Given the description of an element on the screen output the (x, y) to click on. 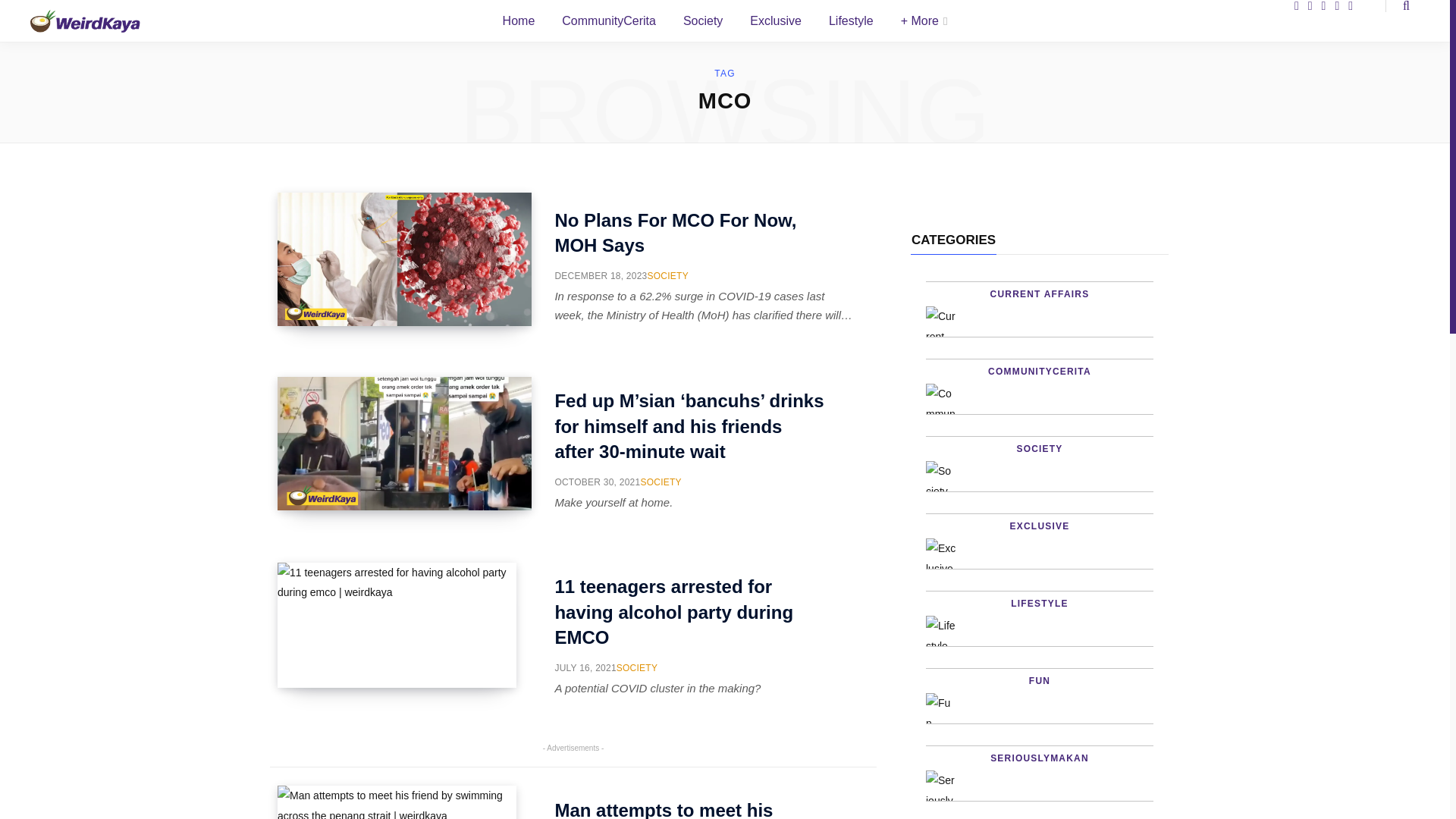
CommunityCerita (608, 24)
WeirdKaya (85, 20)
Society (702, 24)
11 Teenagers Arrested For Having Alcohol Party During Emco (397, 625)
Lifestyle (850, 23)
11 teenagers arrested for having alcohol party during EMCO (689, 612)
Home (518, 24)
JULY 16, 2021 (584, 667)
DECEMBER 18, 2023 (600, 275)
SOCIETY (667, 276)
No Plans For MCO For Now, MOH Says  (689, 233)
Search (1397, 6)
SOCIETY (636, 667)
